Given the description of an element on the screen output the (x, y) to click on. 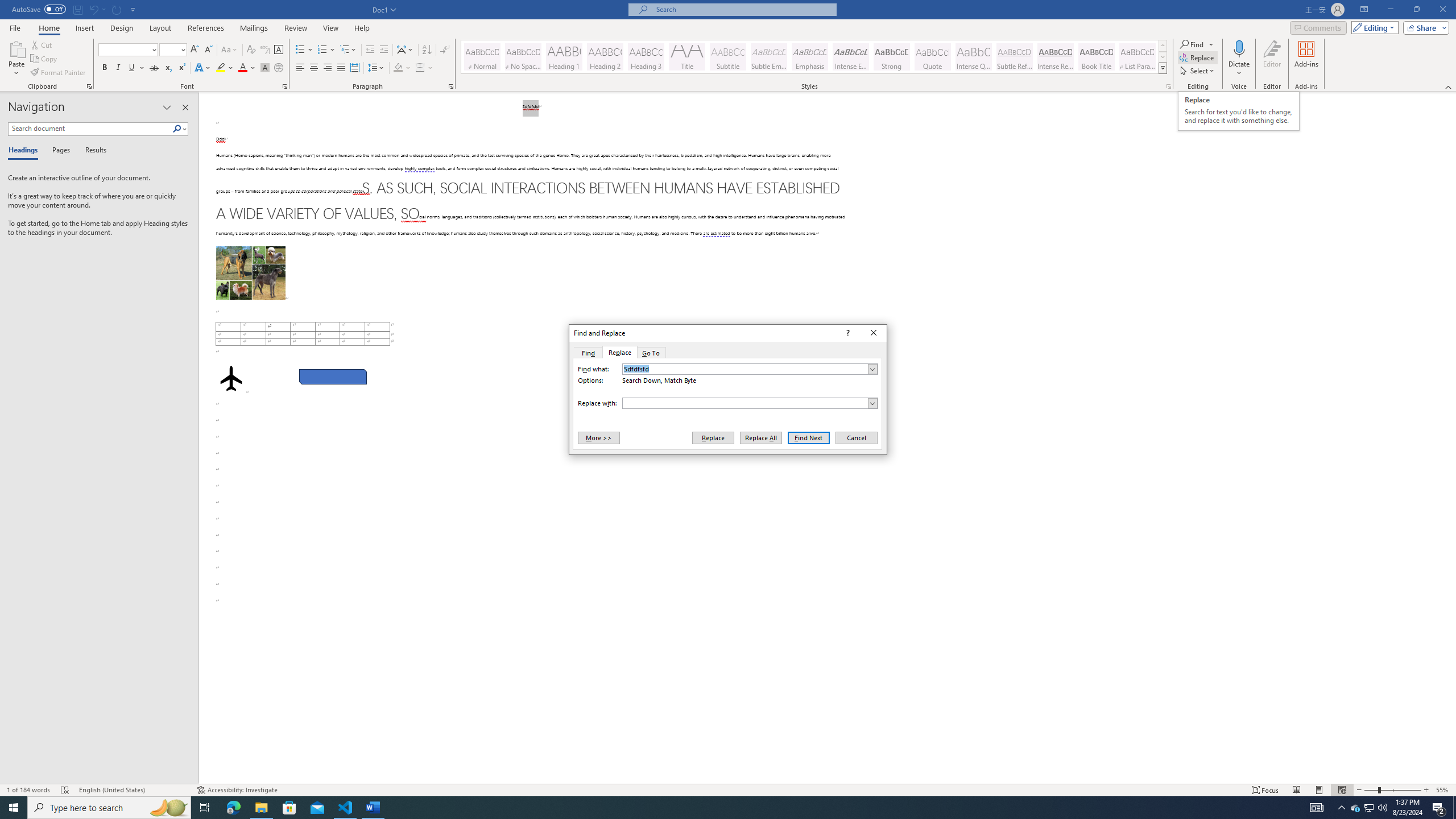
RichEdit Control (745, 403)
Select (1197, 69)
Justify (340, 67)
Heading 1 (564, 56)
Find what: (749, 369)
Title (686, 56)
